Given the description of an element on the screen output the (x, y) to click on. 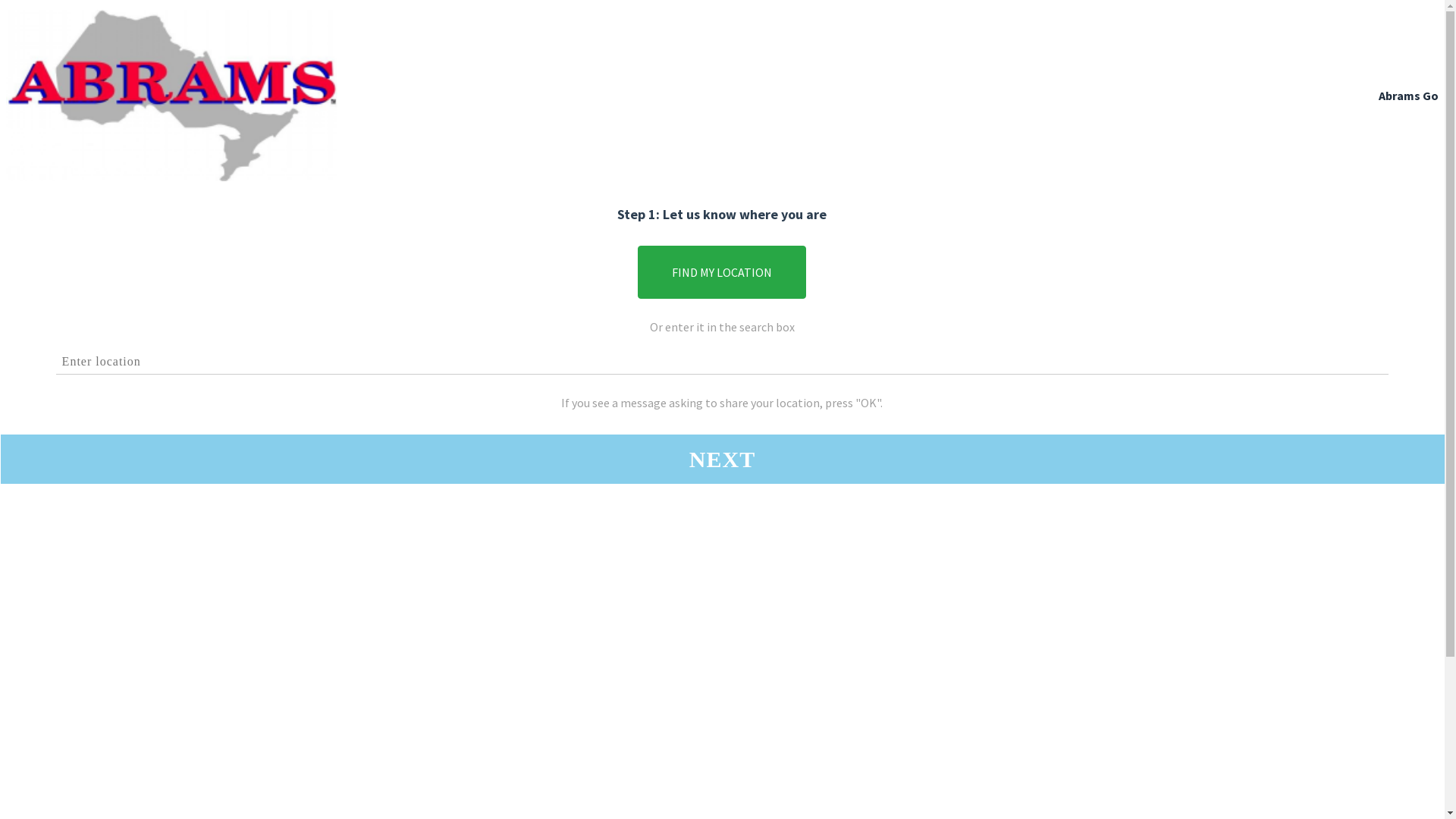
FIND MY LOCATION Element type: text (721, 271)
